Given the description of an element on the screen output the (x, y) to click on. 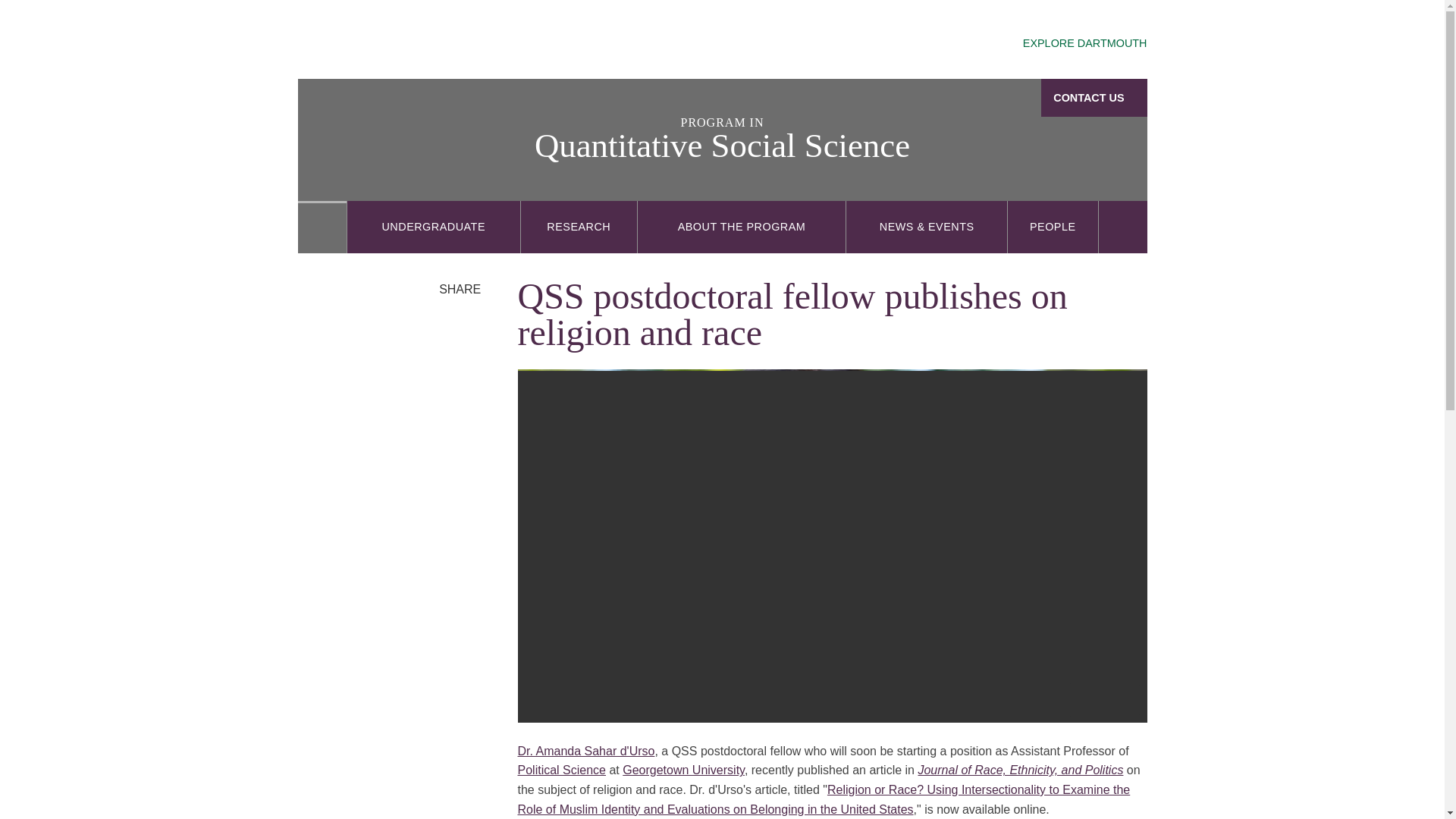
Dartmouth College (417, 41)
EXPLORE DARTMOUTH (1071, 43)
Home (321, 226)
